Given the description of an element on the screen output the (x, y) to click on. 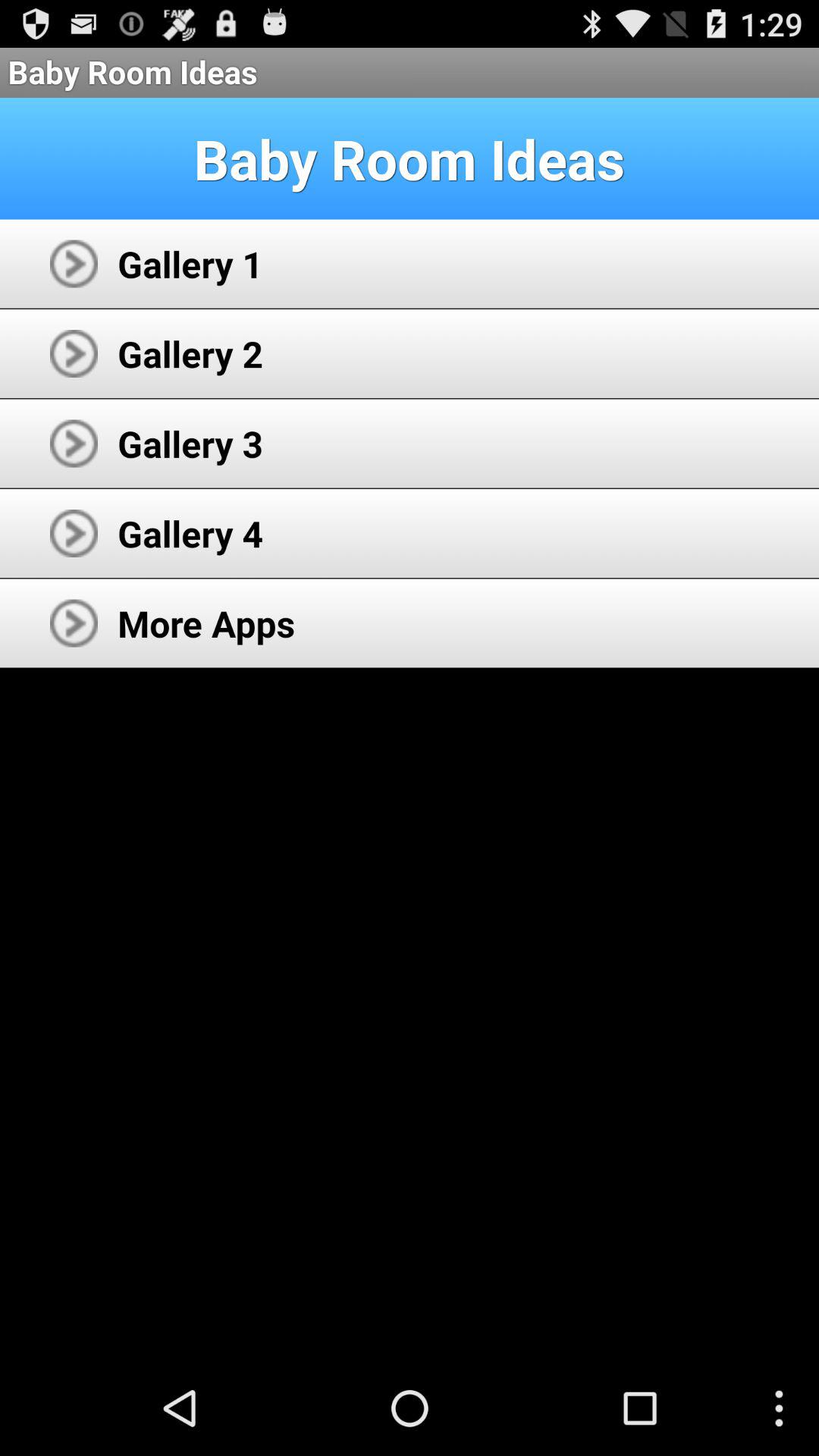
scroll until the gallery 4 item (190, 533)
